Given the description of an element on the screen output the (x, y) to click on. 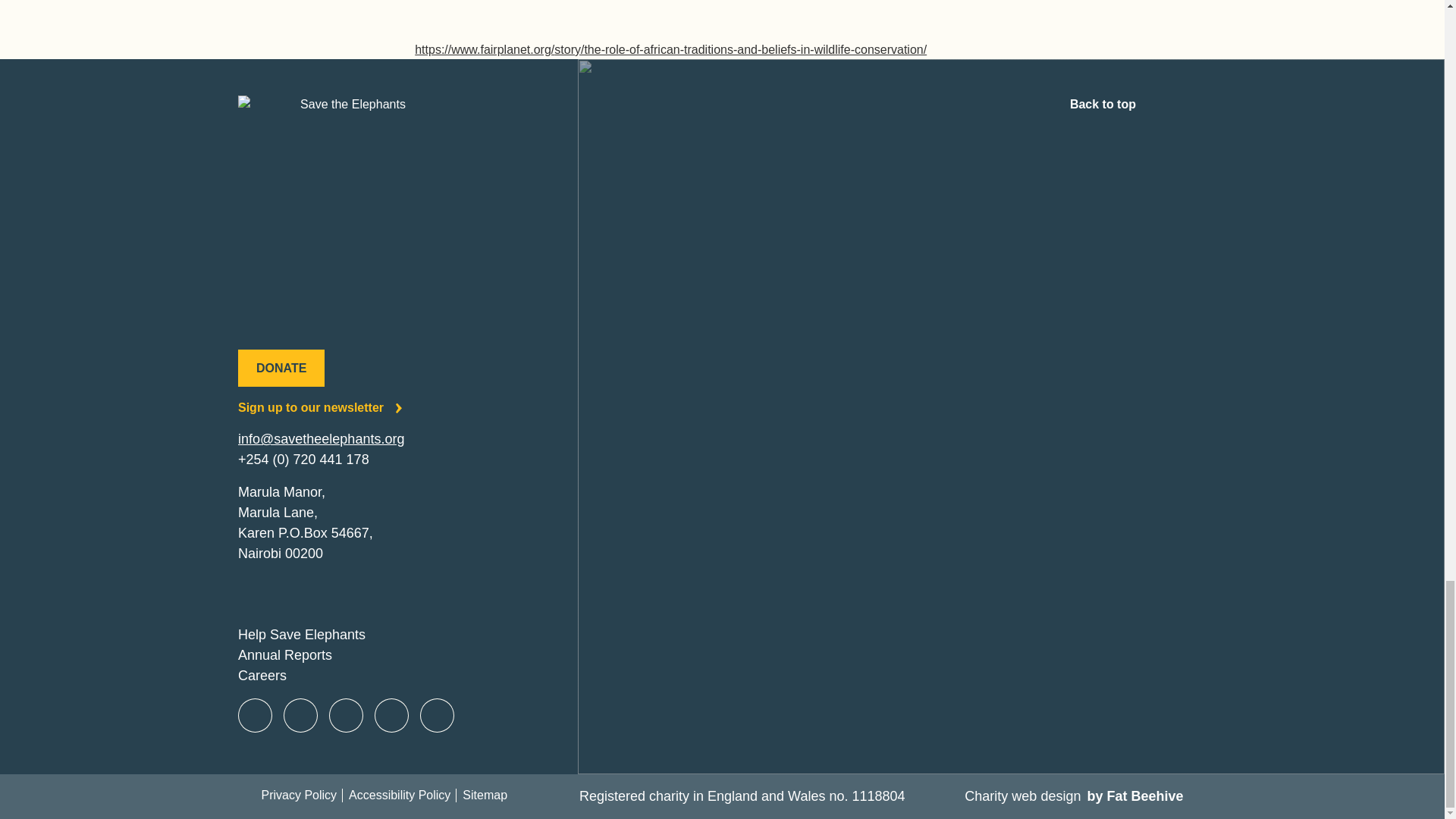
Linkedin (437, 715)
Facebook (254, 715)
Twitter (301, 715)
Youtube (391, 715)
Instagram (346, 715)
